Given the description of an element on the screen output the (x, y) to click on. 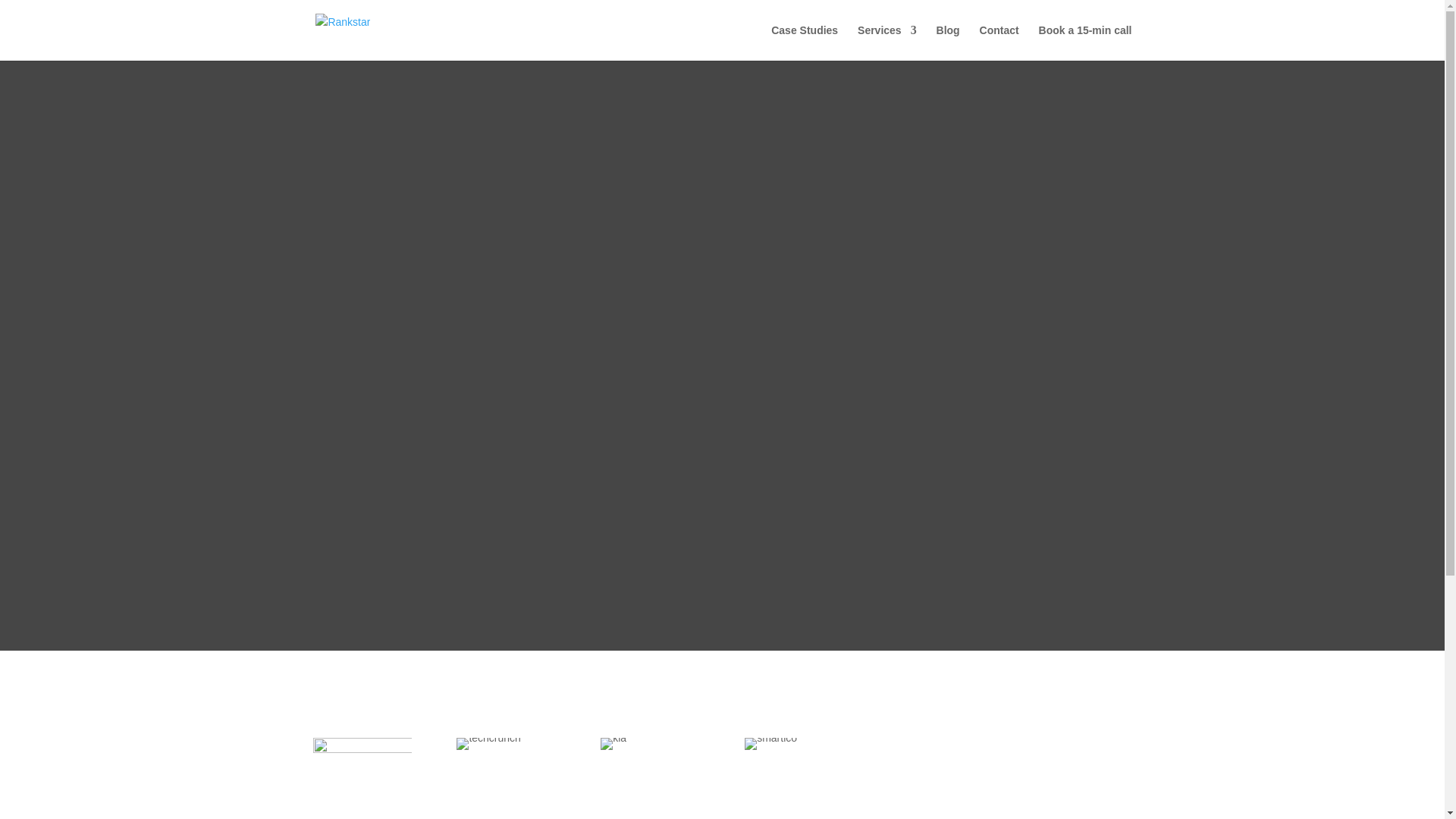
Services (887, 42)
techcrunch (488, 743)
Contact (999, 42)
Book a 15-min call (1085, 42)
kia-01 (612, 743)
Case Studies (804, 42)
